Given the description of an element on the screen output the (x, y) to click on. 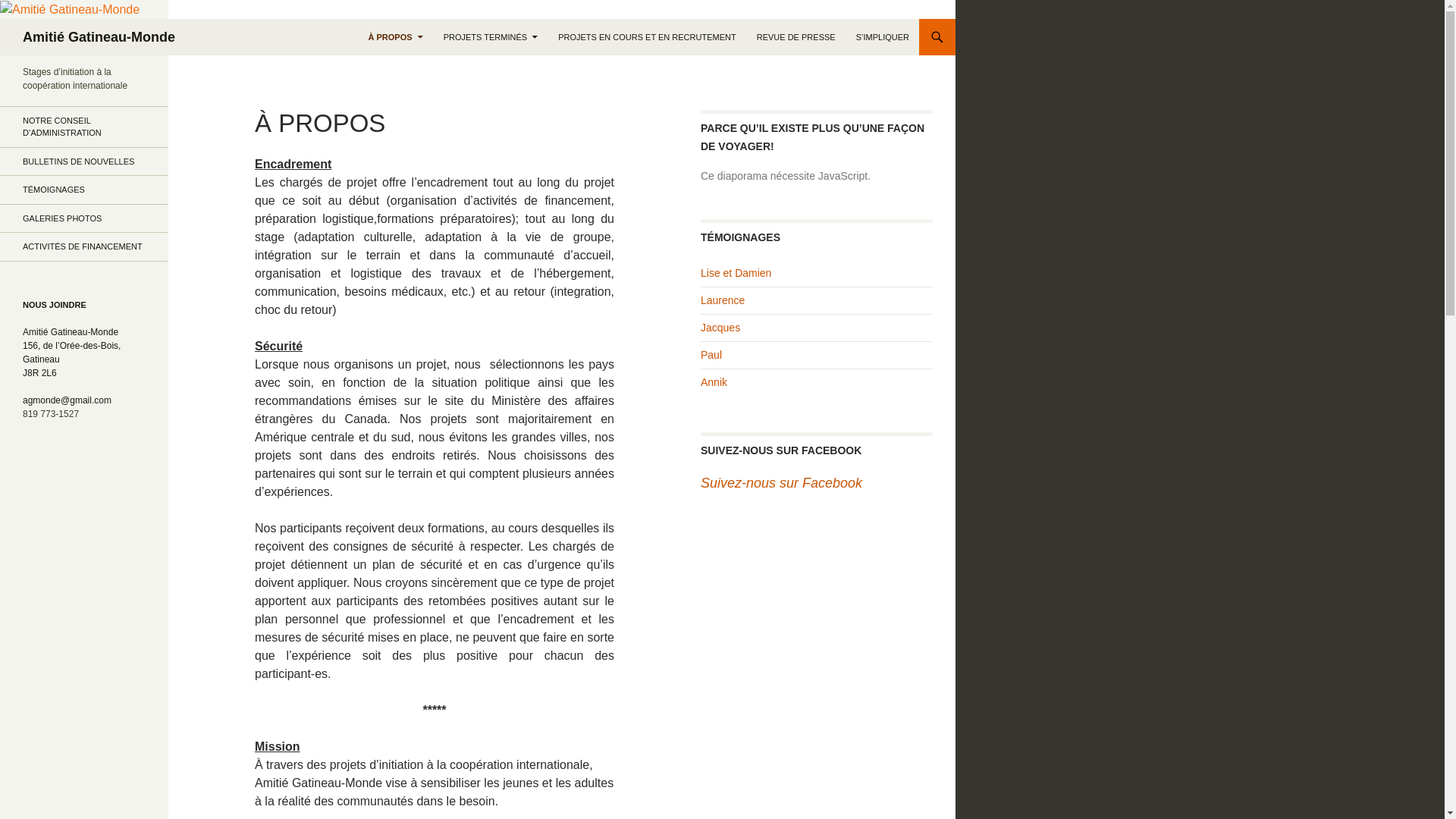
GALERIES PHOTOS Element type: text (84, 218)
Lise et Damien Element type: text (735, 272)
REVUE DE PRESSE Element type: text (795, 36)
Recherche Element type: text (3, 18)
Paul Element type: text (710, 354)
Suivez-nous sur Facebook Element type: text (781, 482)
SUIVEZ-NOUS SUR FACEBOOK Element type: text (780, 450)
Laurence Element type: text (722, 300)
Annik Element type: text (713, 382)
Jacques Element type: text (720, 327)
BULLETINS DE NOUVELLES Element type: text (84, 161)
PROJETS EN COURS ET EN RECRUTEMENT Element type: text (647, 36)
